Given the description of an element on the screen output the (x, y) to click on. 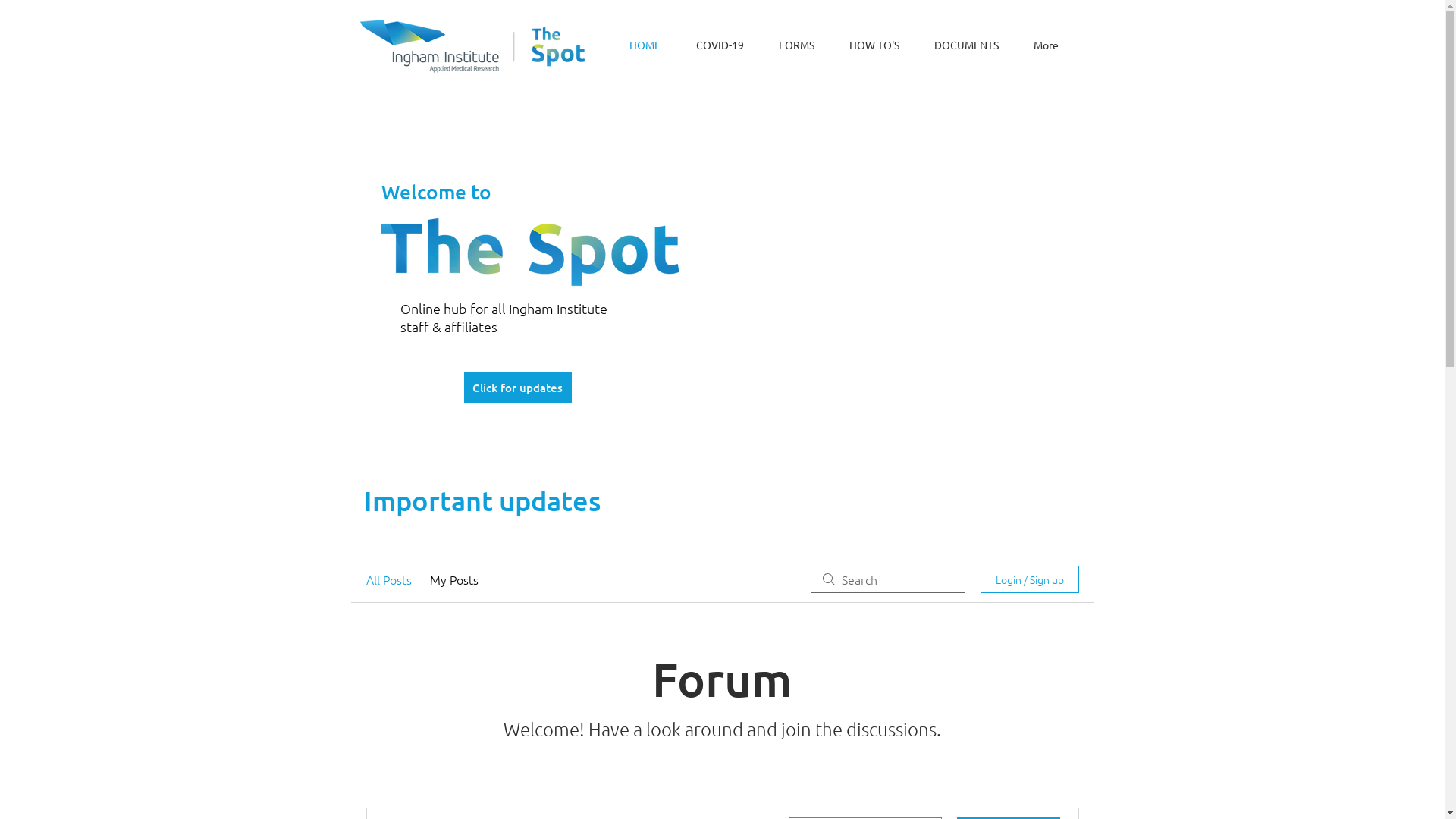
DOCUMENTS Element type: text (965, 45)
HOW TO'S Element type: text (873, 45)
Login / Sign up Element type: text (1028, 579)
My Posts Element type: text (453, 579)
Click for updates Element type: text (517, 387)
All Posts Element type: text (388, 579)
FORMS Element type: text (796, 45)
COVID-19 Element type: text (718, 45)
HOME Element type: text (644, 45)
